Given the description of an element on the screen output the (x, y) to click on. 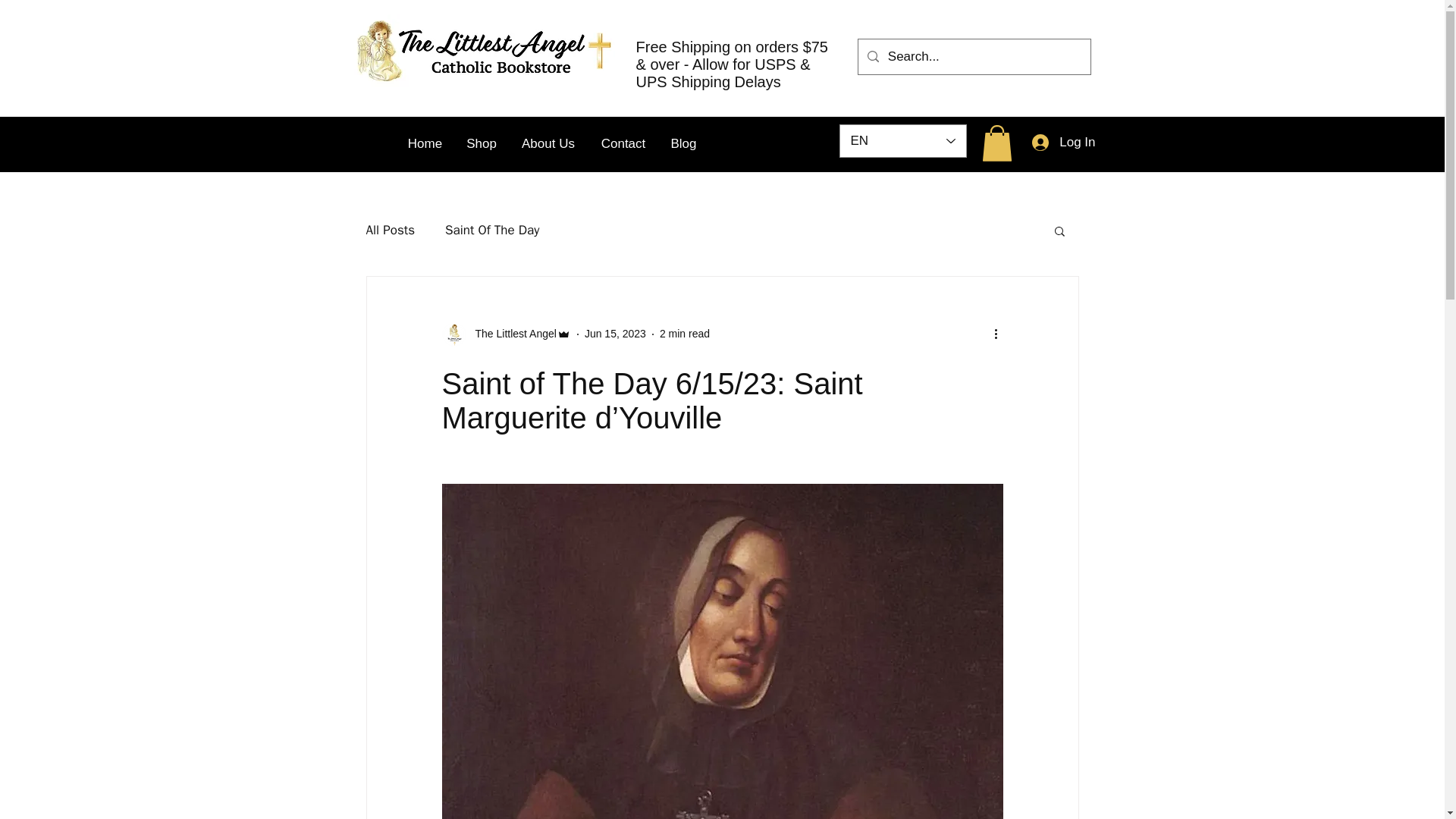
Home (425, 143)
The Littlest Angel (510, 333)
All Posts (389, 230)
Contact (623, 143)
Jun 15, 2023 (615, 333)
Saint Of The Day (491, 230)
Log In (1063, 142)
The Littlest Angel (505, 334)
Blog (682, 143)
2 min read (684, 333)
